Given the description of an element on the screen output the (x, y) to click on. 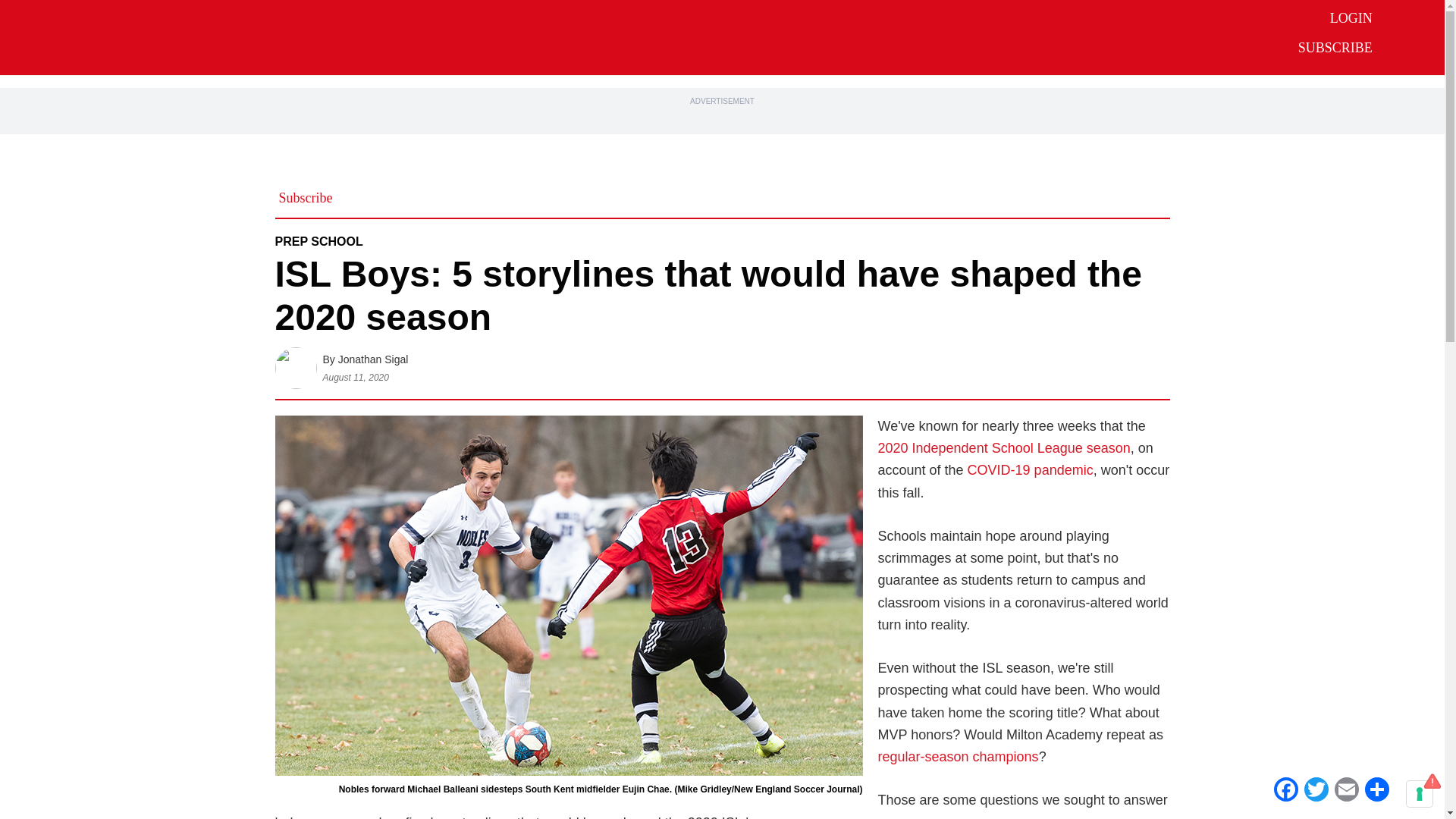
Jonathan Sigal (373, 358)
2020 Independent School League season (1004, 447)
regular-season champions (958, 756)
LOGIN (1351, 17)
COVID-19 pandemic (1030, 469)
PREP SCHOOL (318, 241)
Twitter (1316, 788)
SUBSCRIBE (1335, 47)
Facebook (1286, 788)
New England Soccer Journal (676, 37)
Email (1346, 788)
Subscribe (306, 197)
